Given the description of an element on the screen output the (x, y) to click on. 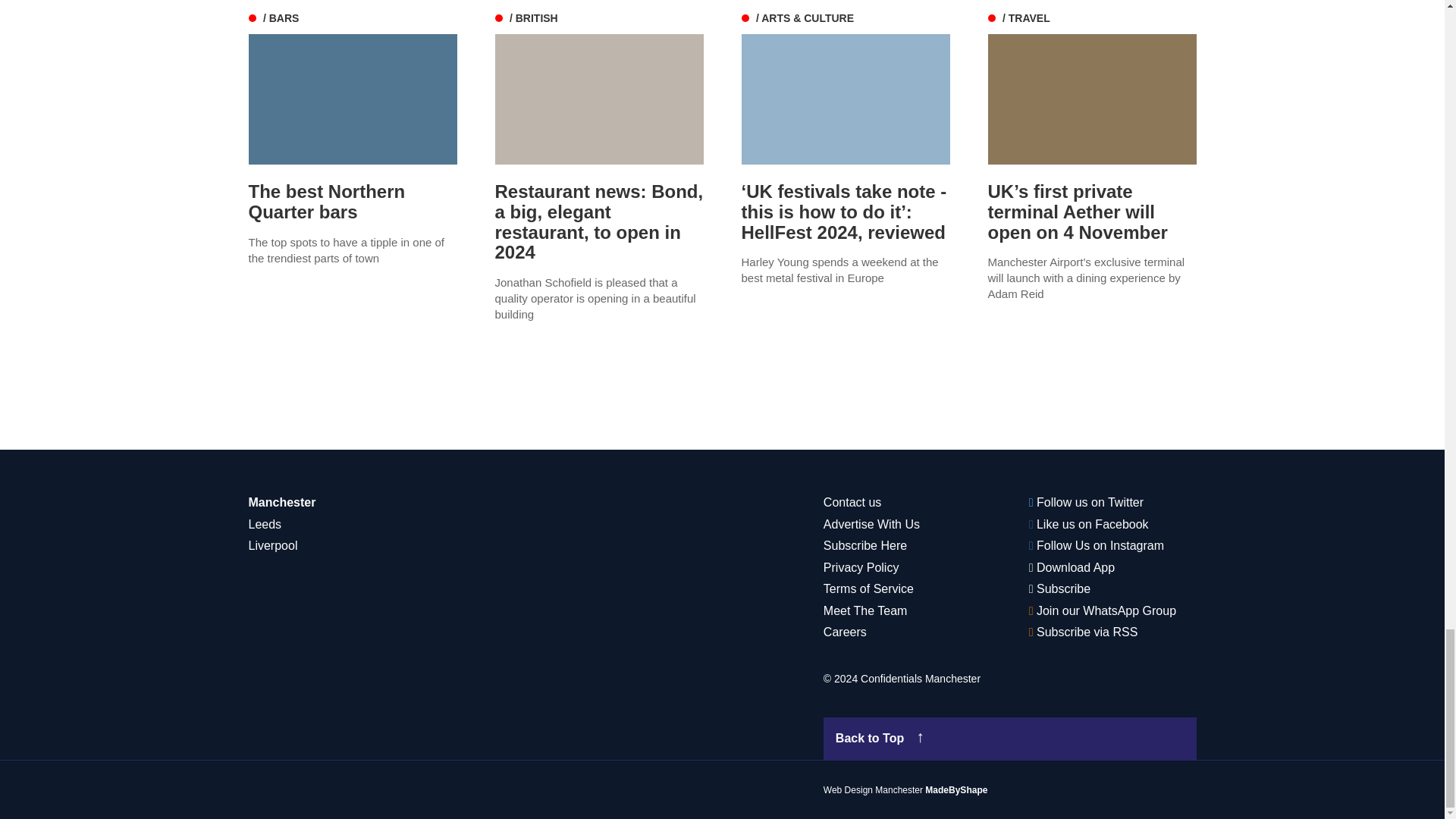
Back to Top (1010, 738)
